Given the description of an element on the screen output the (x, y) to click on. 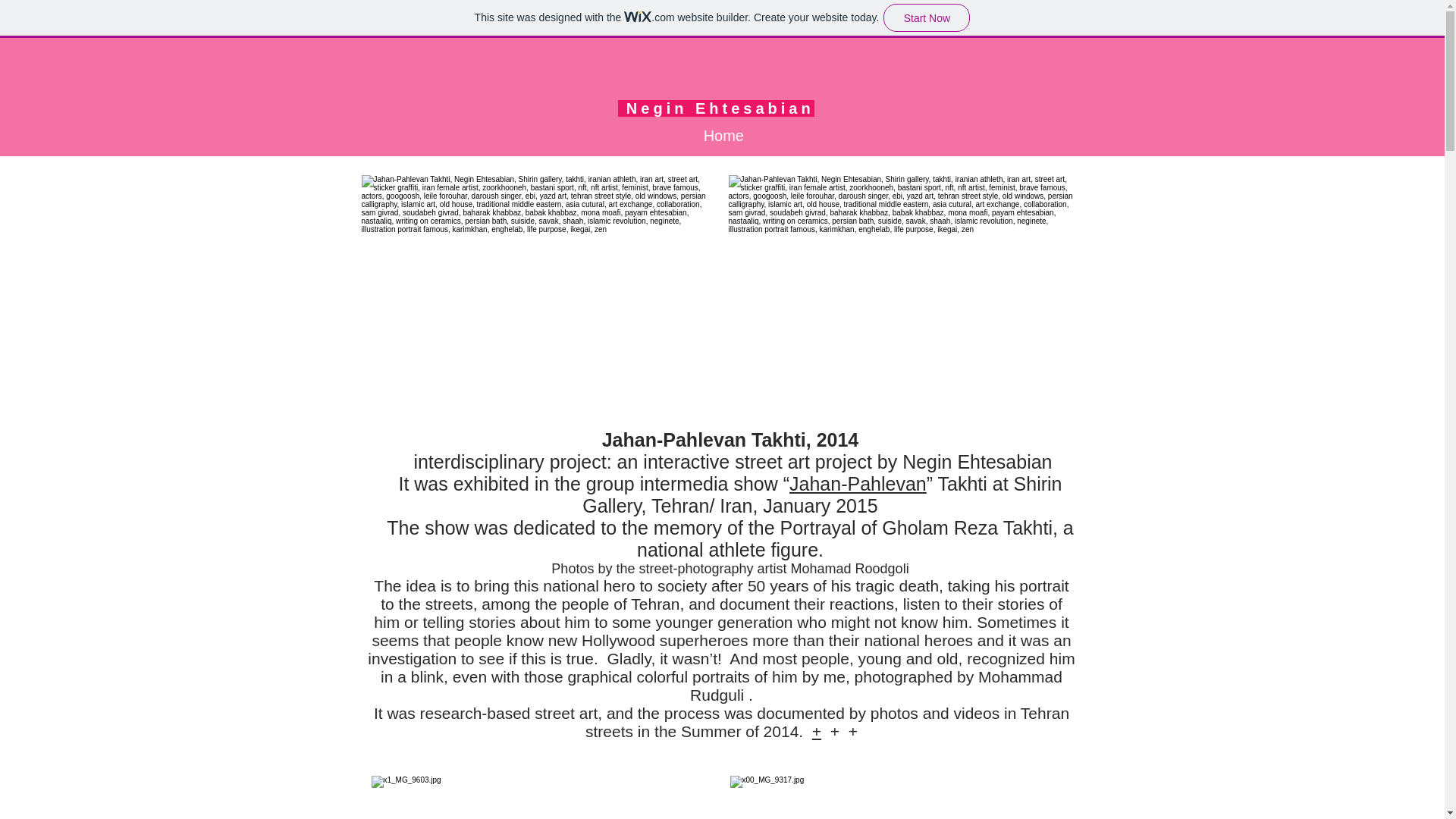
Jahan-Pahlevan (857, 483)
Jahan-Pahlevan Takhti, Negin Ehtesabian, Shirin gallery,2014 (538, 289)
Home (721, 135)
Jahan-Pahlevan Takhti, Negin Ehtesabian, Shirin gallery,2014 (905, 289)
 Negin Ehtesabian (715, 108)
